Given the description of an element on the screen output the (x, y) to click on. 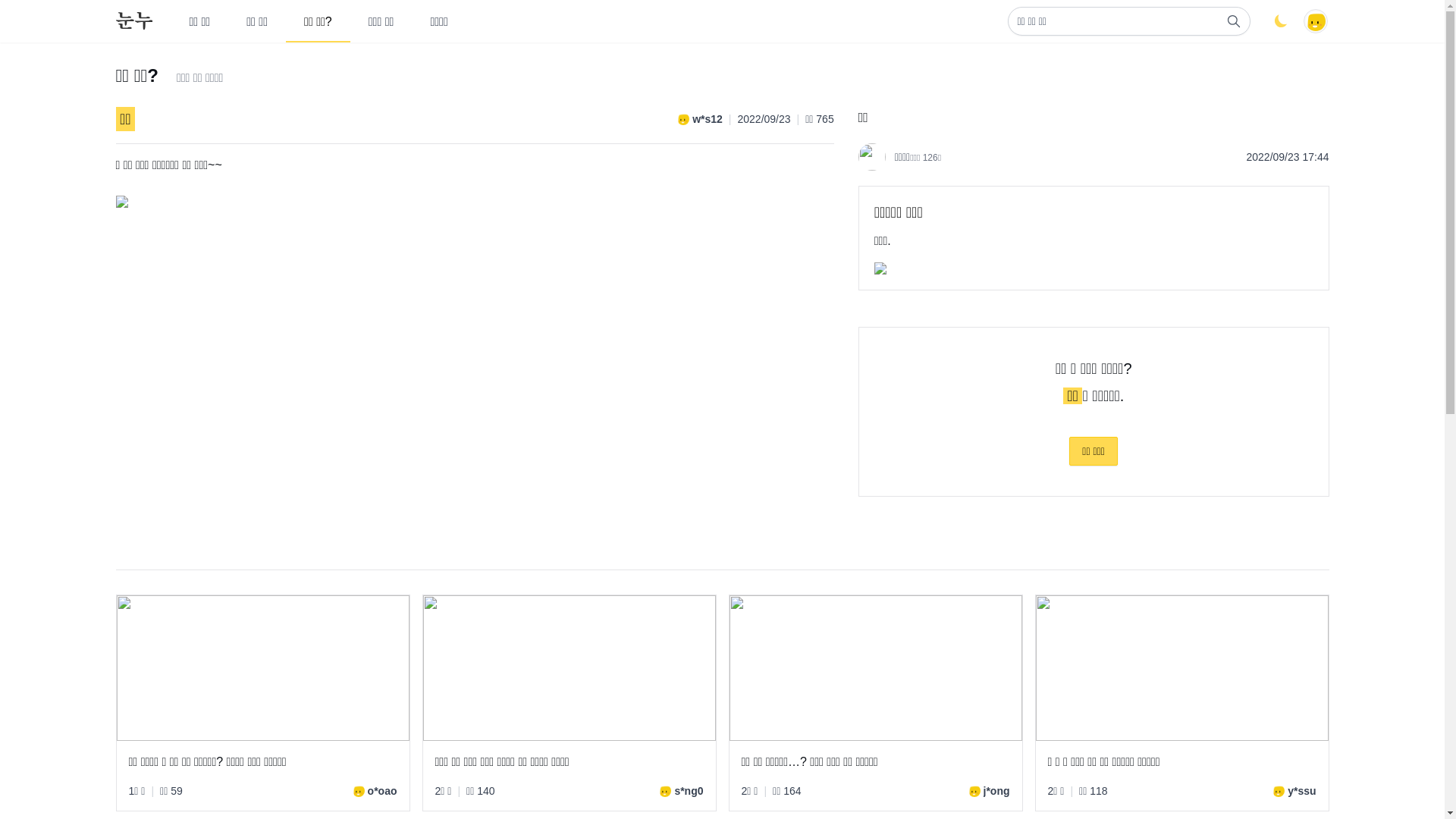
j*ong Element type: text (988, 790)
s*ng0 Element type: text (680, 790)
w*s12 Element type: text (699, 118)
y*ssu Element type: text (1293, 790)
o*oao Element type: text (374, 790)
